Given the description of an element on the screen output the (x, y) to click on. 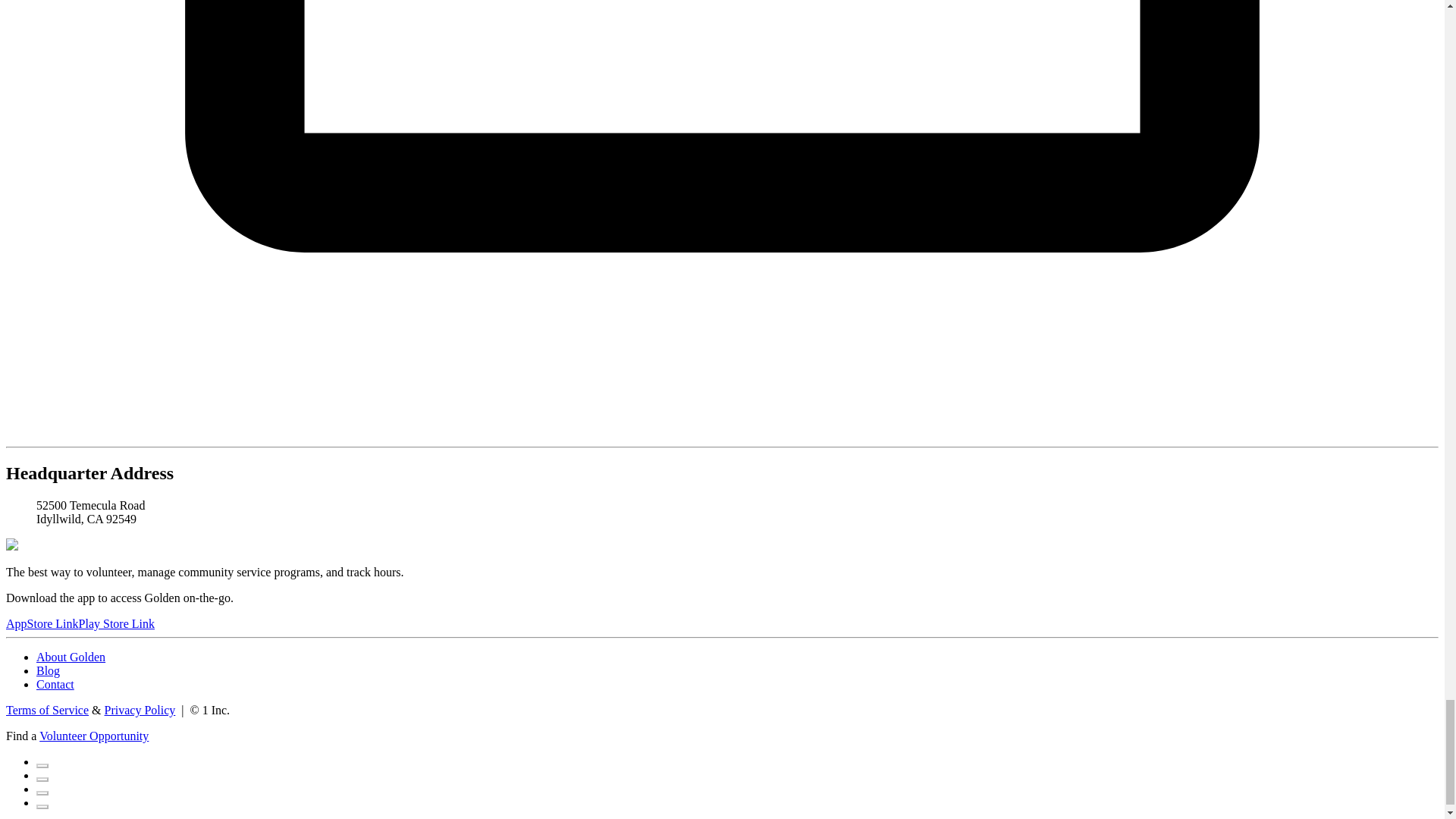
Visit Us On Facebook (42, 761)
Terms of Service (46, 709)
Volunteer Opportunity (93, 735)
Visit Us On Instagram (42, 788)
Blog (47, 670)
About Golden (70, 656)
Contact (55, 684)
Play Store Link (116, 623)
Contact (55, 684)
Visit Us On Twitter (42, 775)
